Given the description of an element on the screen output the (x, y) to click on. 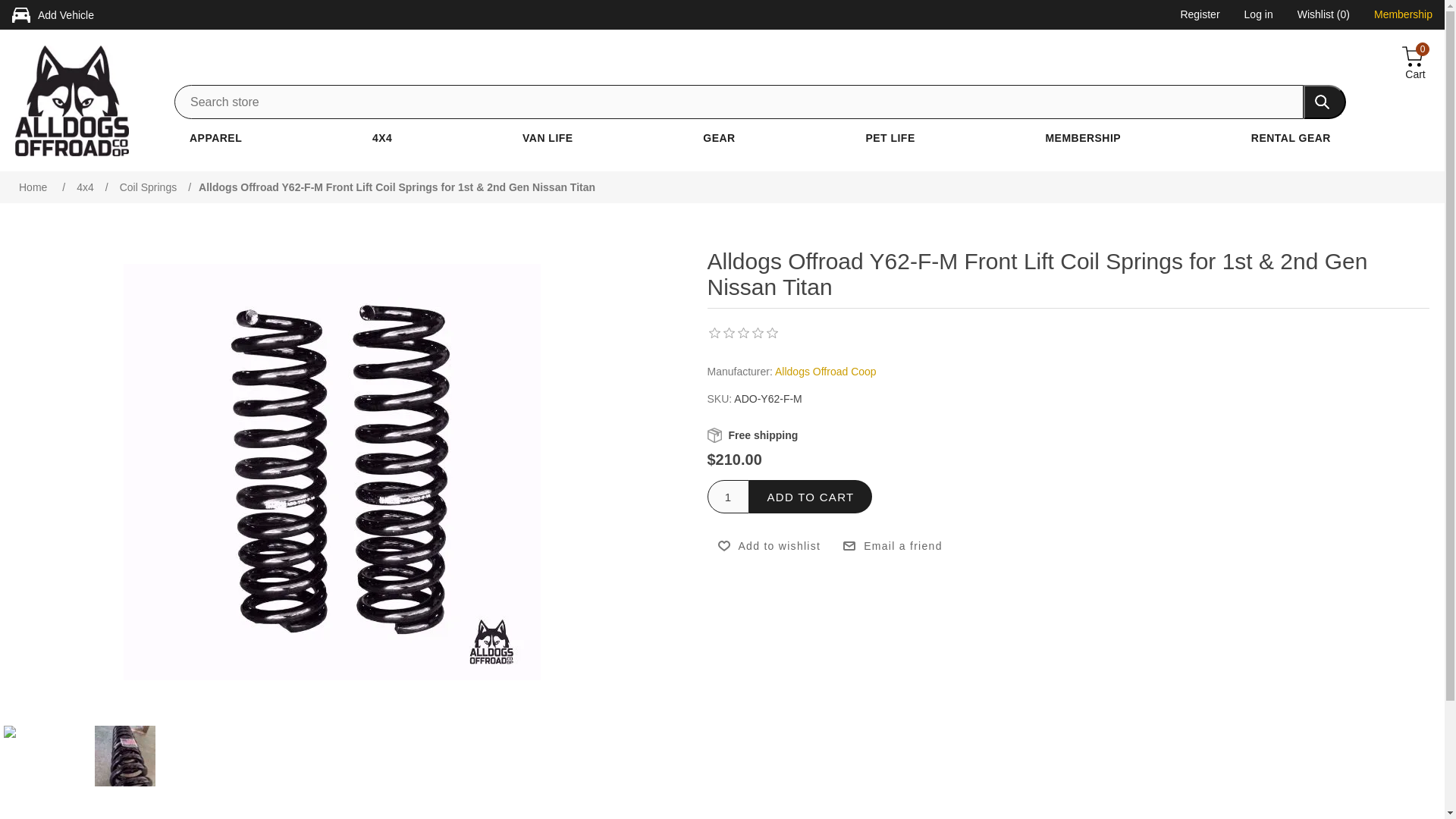
MEMBERSHIP (1083, 137)
Register (1199, 15)
PET LIFE (889, 137)
Search (1324, 101)
1 (727, 496)
Search (1324, 101)
RENTAL GEAR (1290, 137)
Log in (1258, 15)
APPAREL (215, 137)
Membership (1403, 15)
Search (1324, 101)
Add Vehicle (65, 15)
4X4 (381, 137)
VAN LIFE (547, 137)
GEAR (719, 137)
